Given the description of an element on the screen output the (x, y) to click on. 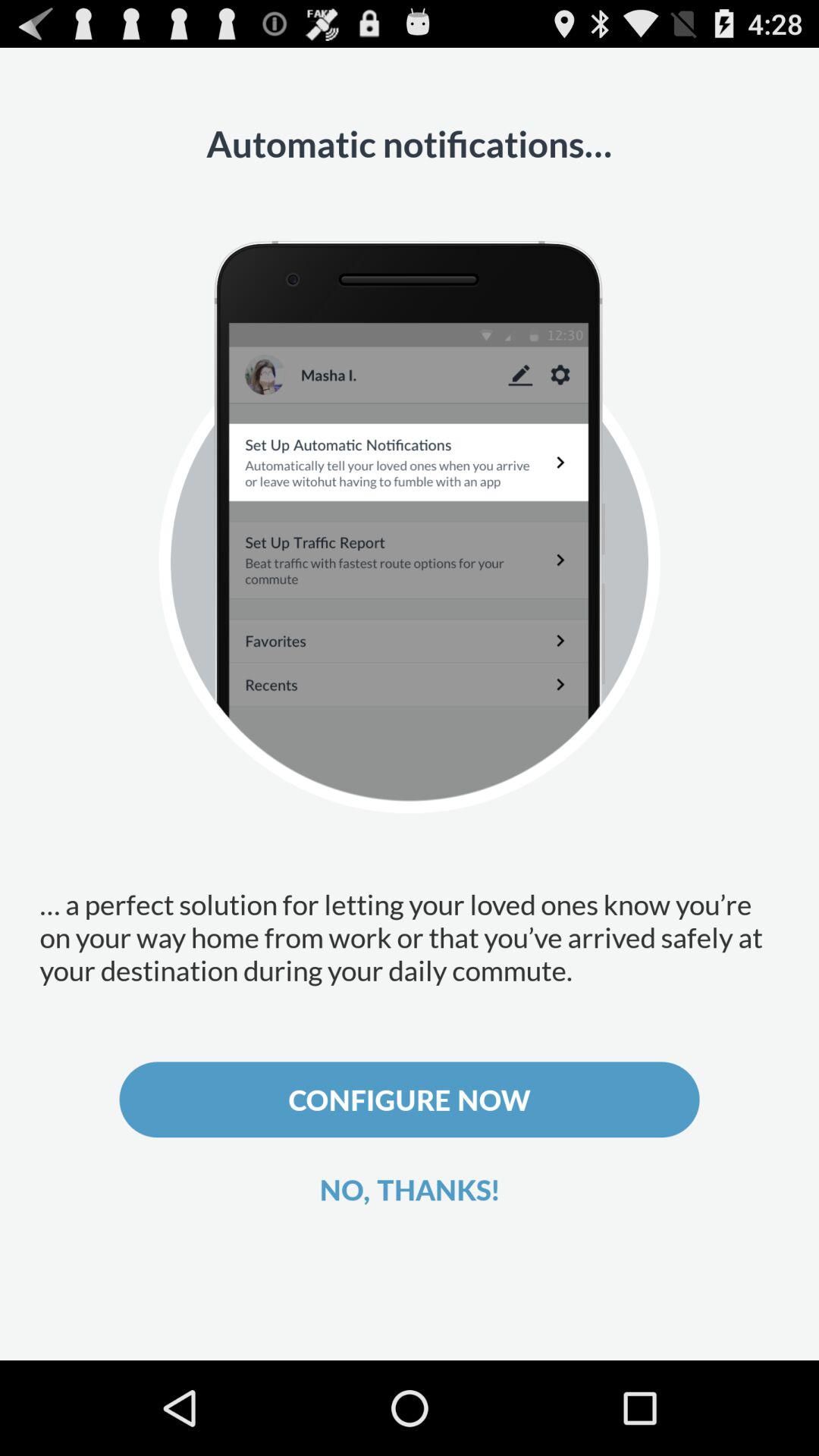
jump until no, thanks! icon (409, 1189)
